Given the description of an element on the screen output the (x, y) to click on. 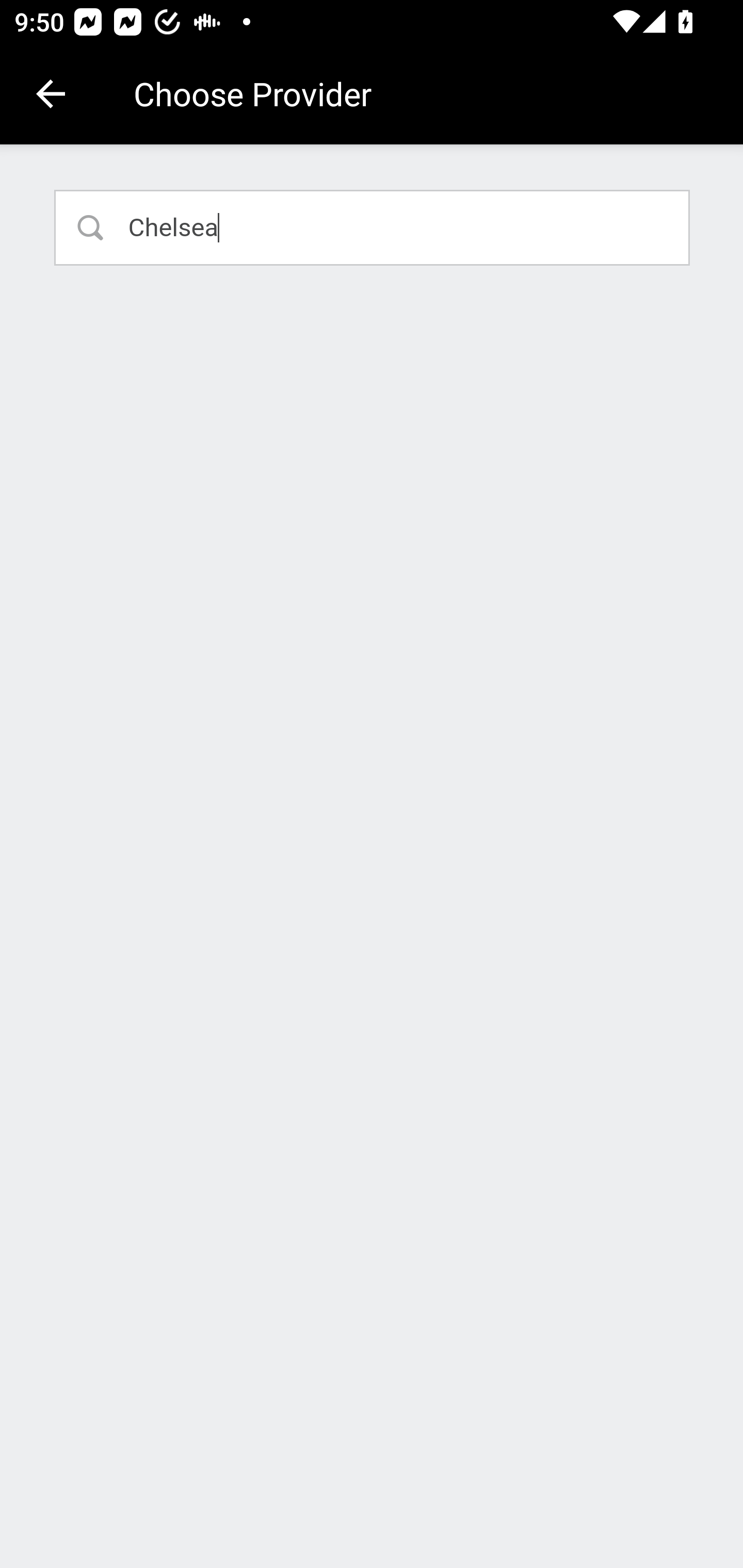
Navigate up (50, 93)
Chelsea (372, 227)
